Given the description of an element on the screen output the (x, y) to click on. 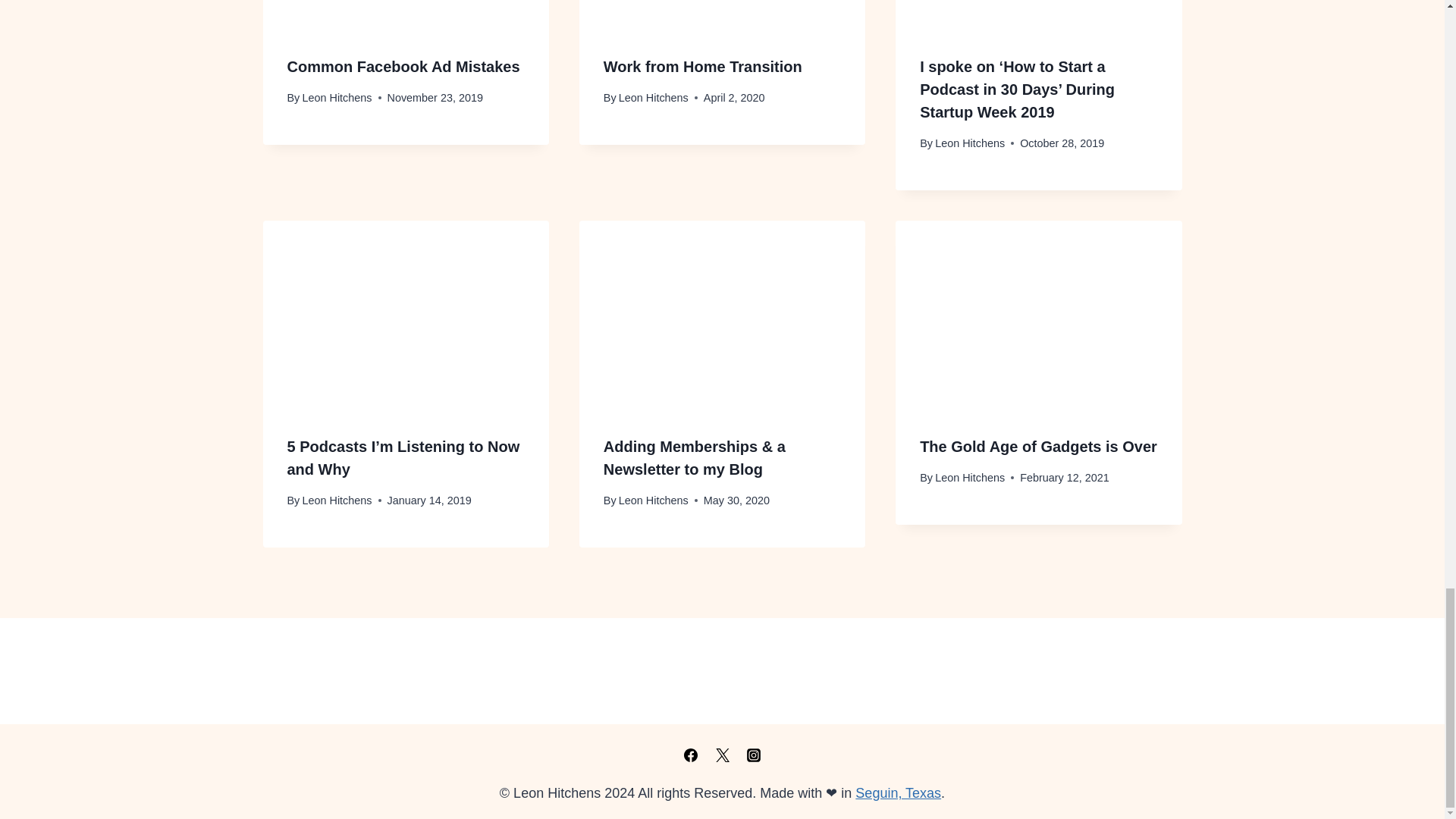
Common Facebook Ad Mistakes (402, 66)
Leon Hitchens (969, 143)
Leon Hitchens (653, 97)
Work from Home Transition (703, 66)
Leon Hitchens (336, 97)
